Given the description of an element on the screen output the (x, y) to click on. 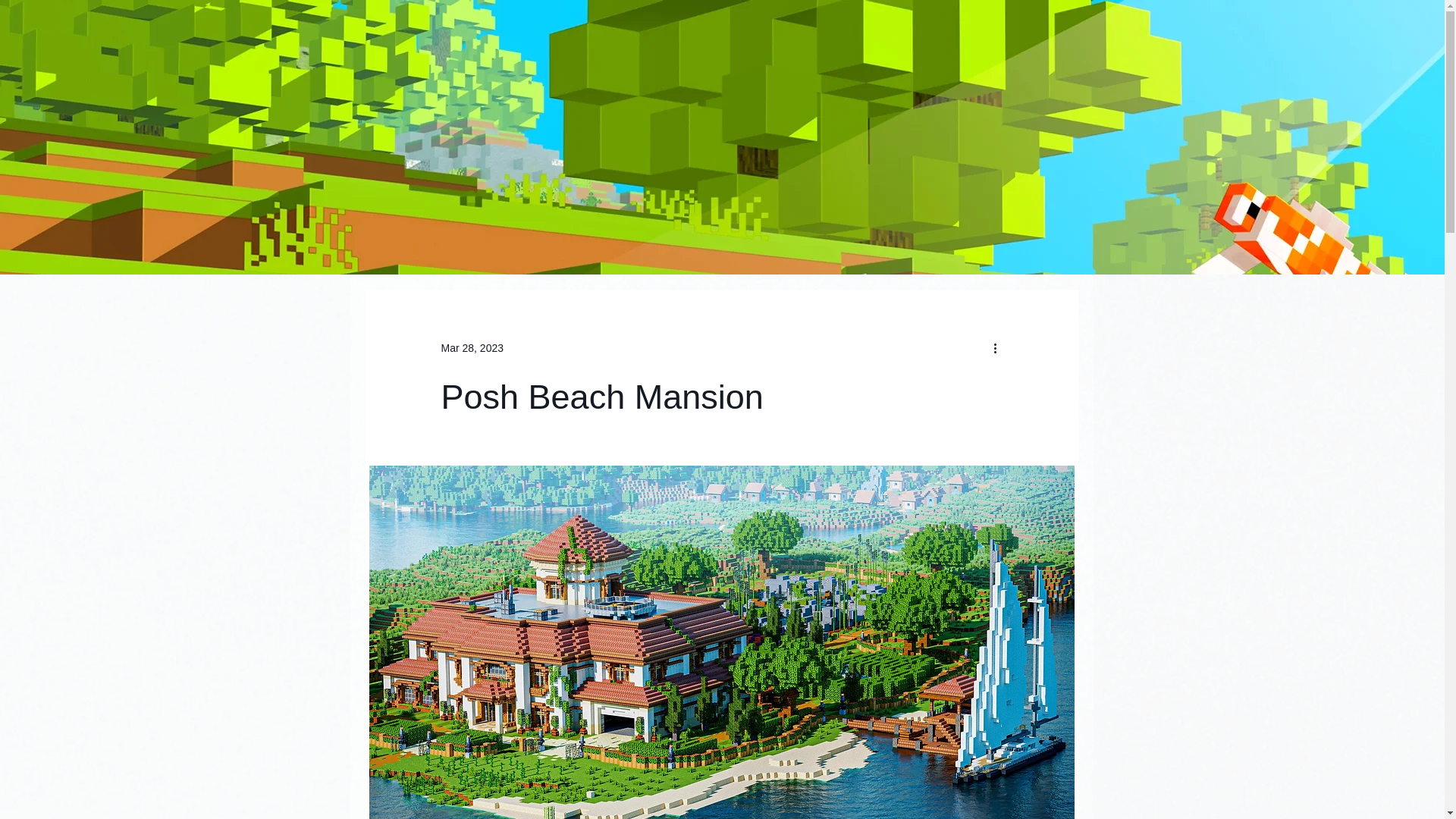
Mar 28, 2023 (472, 346)
